Given the description of an element on the screen output the (x, y) to click on. 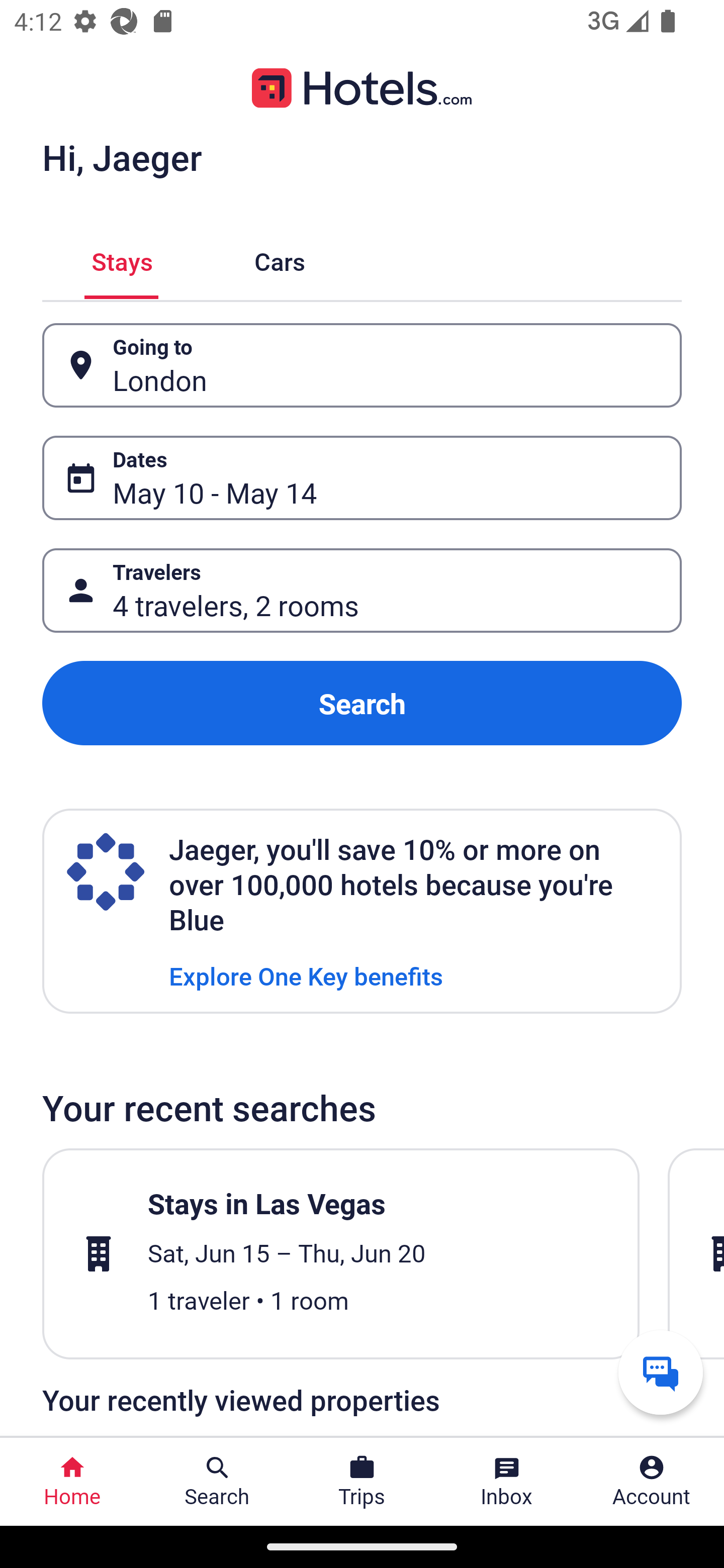
Hi, Jaeger (121, 156)
Cars (279, 259)
Going to Button London (361, 365)
Dates Button May 10 - May 14 (361, 477)
Travelers Button 4 travelers, 2 rooms (361, 590)
Search (361, 702)
Get help from a virtual agent (660, 1371)
Search Search Button (216, 1481)
Trips Trips Button (361, 1481)
Inbox Inbox Button (506, 1481)
Account Profile. Button (651, 1481)
